Given the description of an element on the screen output the (x, y) to click on. 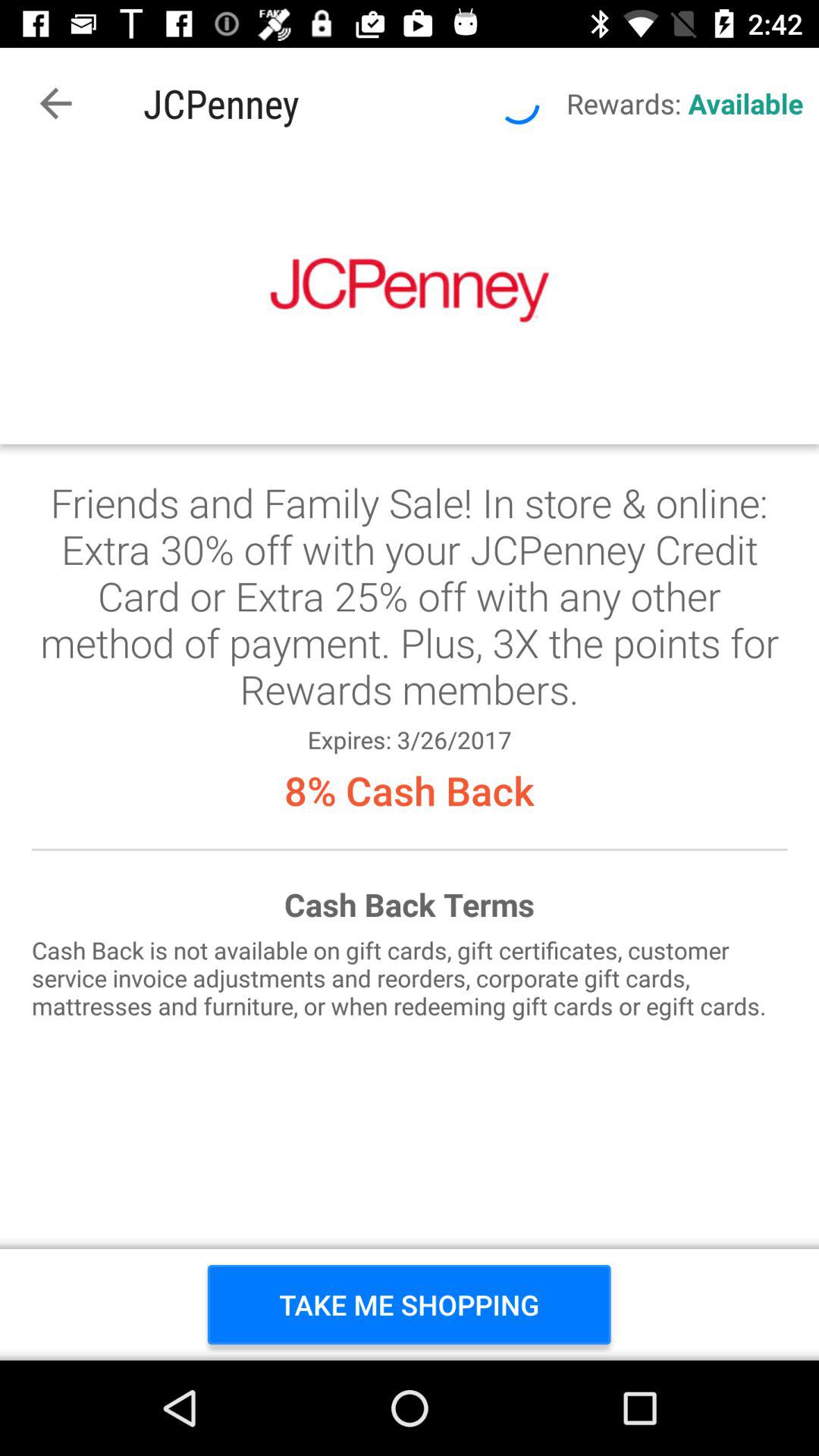
jump until take me shopping item (408, 1304)
